Given the description of an element on the screen output the (x, y) to click on. 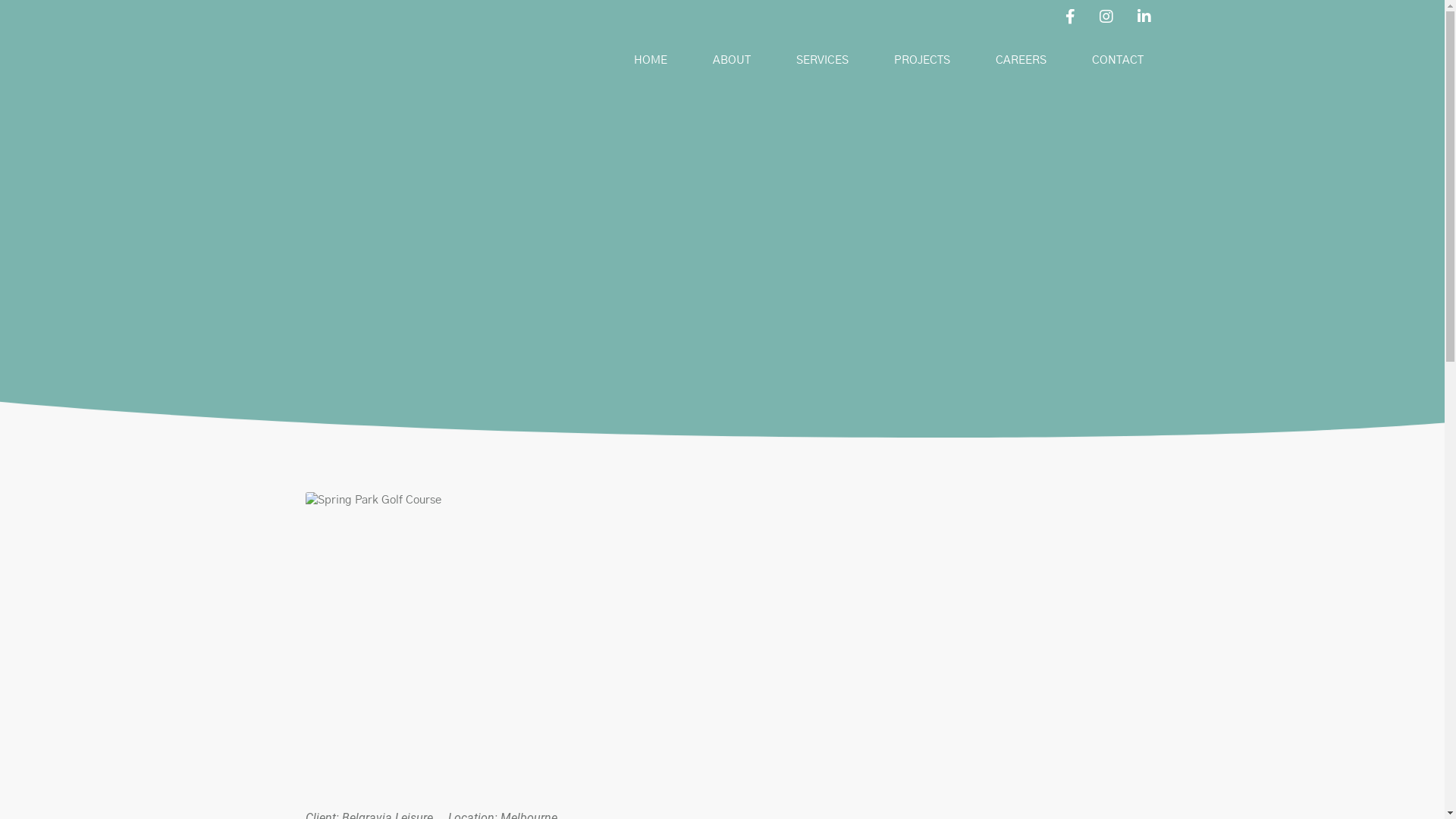
ABOUT Element type: text (730, 60)
CAREERS Element type: text (1020, 60)
SERVICES Element type: text (821, 60)
PROJECTS Element type: text (921, 60)
CONTACT Element type: text (1116, 60)
HOME Element type: text (649, 60)
